Given the description of an element on the screen output the (x, y) to click on. 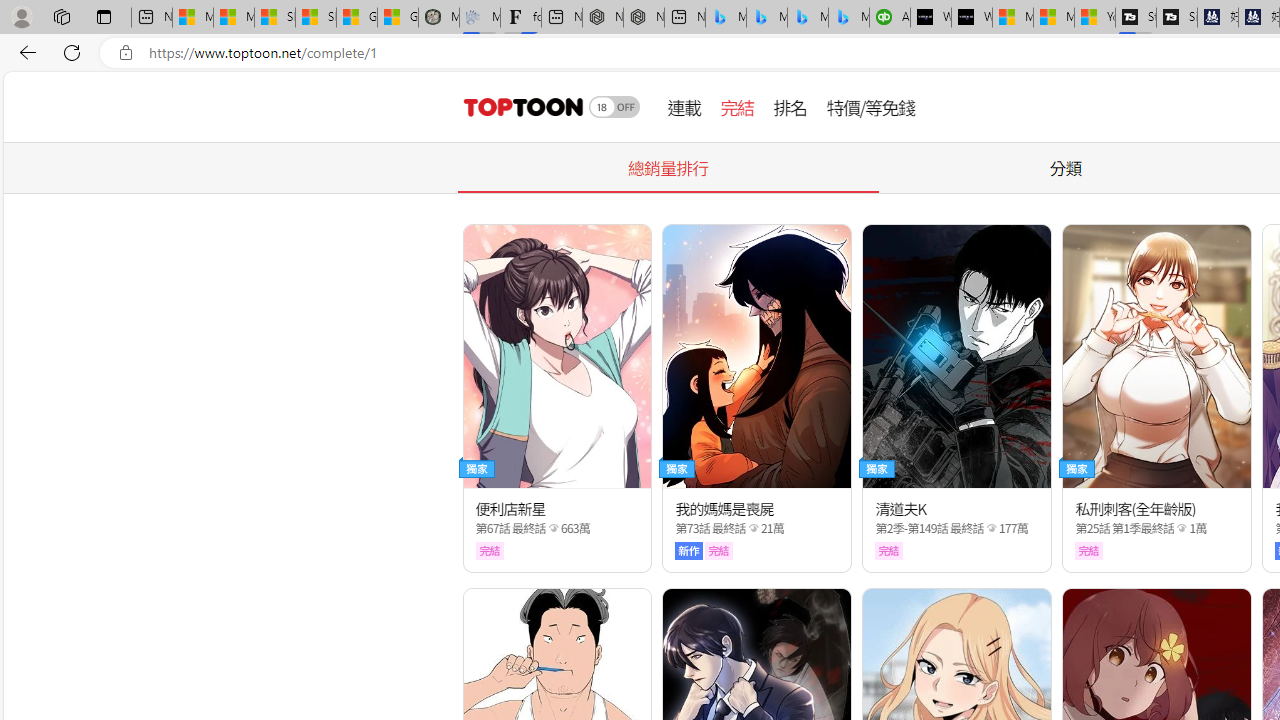
Class:  switch_18mode actionAdultBtn (614, 106)
